Given the description of an element on the screen output the (x, y) to click on. 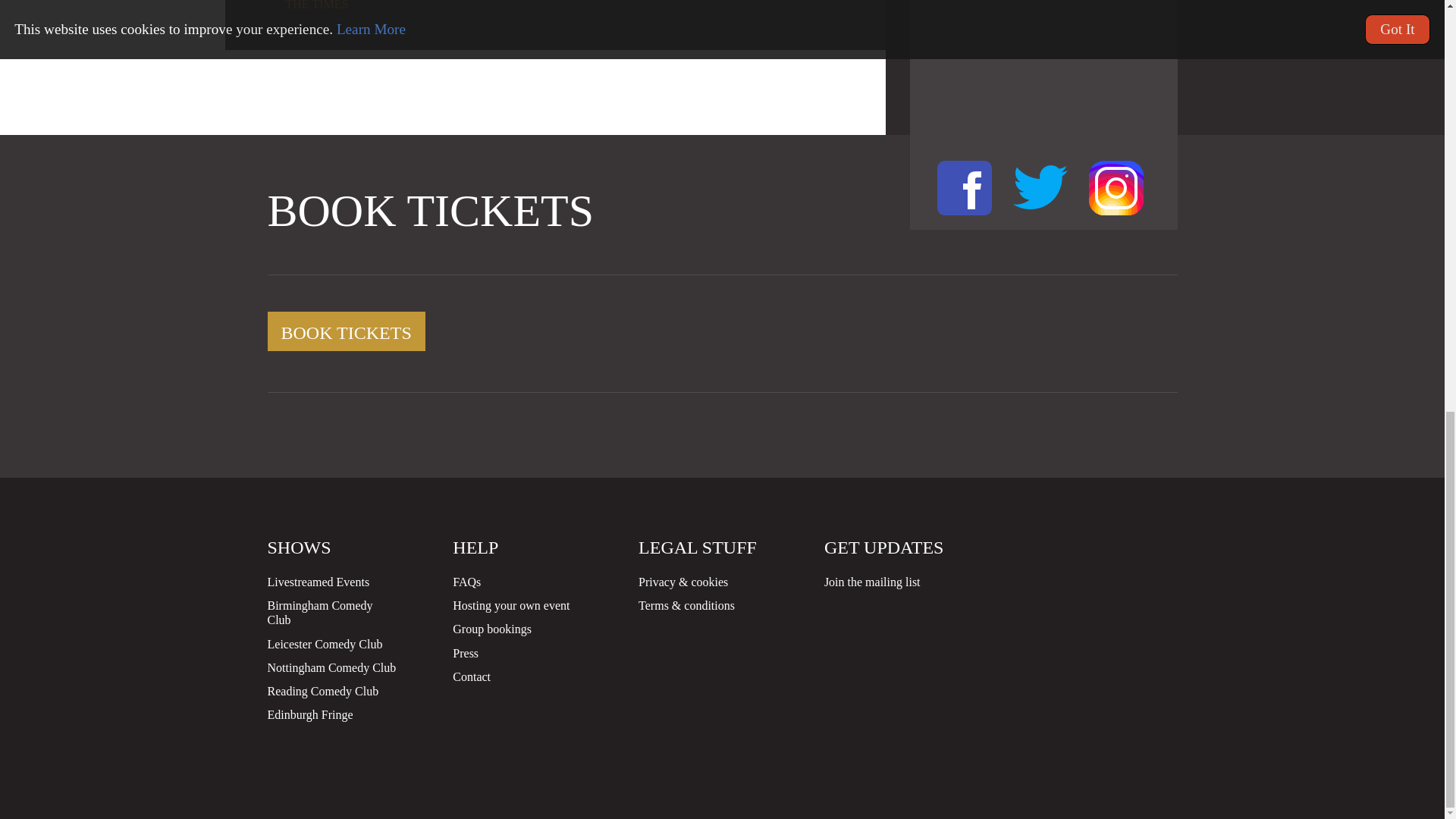
BOOK TICKETS (345, 331)
Nottingham Comedy Club (331, 667)
Reading Comedy Club (322, 690)
Livestreamed Events (317, 581)
Group bookings (491, 628)
Hosting your own event (510, 604)
Birmingham Comedy Club (319, 612)
FAQs (466, 581)
Edinburgh Fringe (309, 714)
Leicester Comedy Club (323, 644)
Press (465, 653)
